Given the description of an element on the screen output the (x, y) to click on. 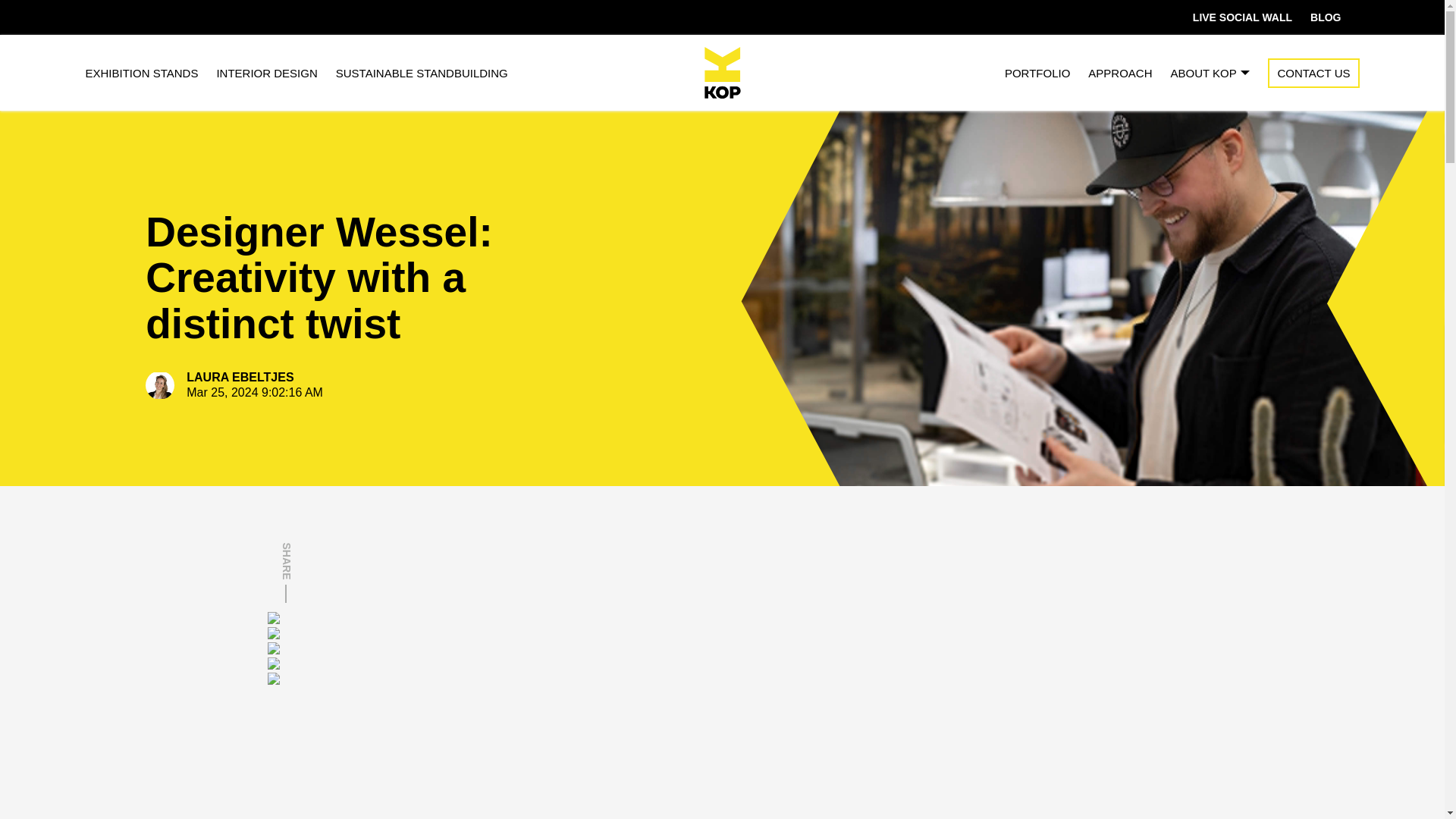
CONTACT US (1313, 71)
SUSTAINABLE STANDBUILDING (422, 71)
INTERIOR DESIGN (266, 71)
APPROACH (1119, 71)
LIVE SOCIAL WALL (1242, 17)
PORTFOLIO (1037, 71)
BLOG (1325, 17)
EXHIBITION STANDS (141, 71)
